Given the description of an element on the screen output the (x, y) to click on. 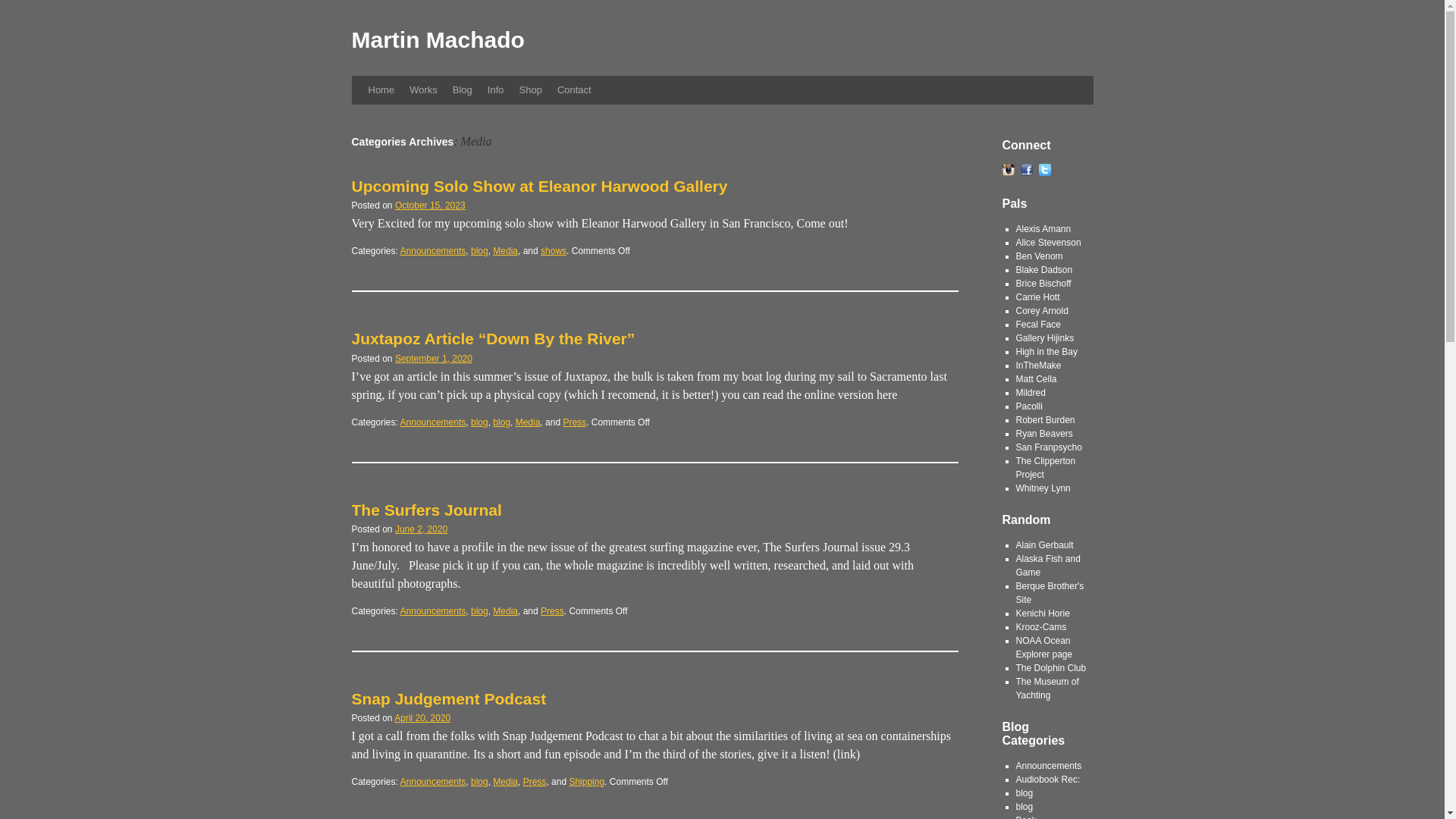
Permalink to Upcoming Solo Show at Eleanor Harwood Gallery (540, 185)
homie (1044, 433)
Permalink to Snap Judgement Podcast (449, 698)
Contact (574, 90)
blog (478, 611)
Info (496, 90)
Blog (462, 90)
Announcements (432, 421)
September 1, 2020 (432, 357)
Announcements (432, 611)
April 20, 2020 (421, 717)
Snap Judgement Podcast (449, 698)
Media (527, 421)
Press (534, 781)
Great Blog and all around art portal  (1038, 324)
